Given the description of an element on the screen output the (x, y) to click on. 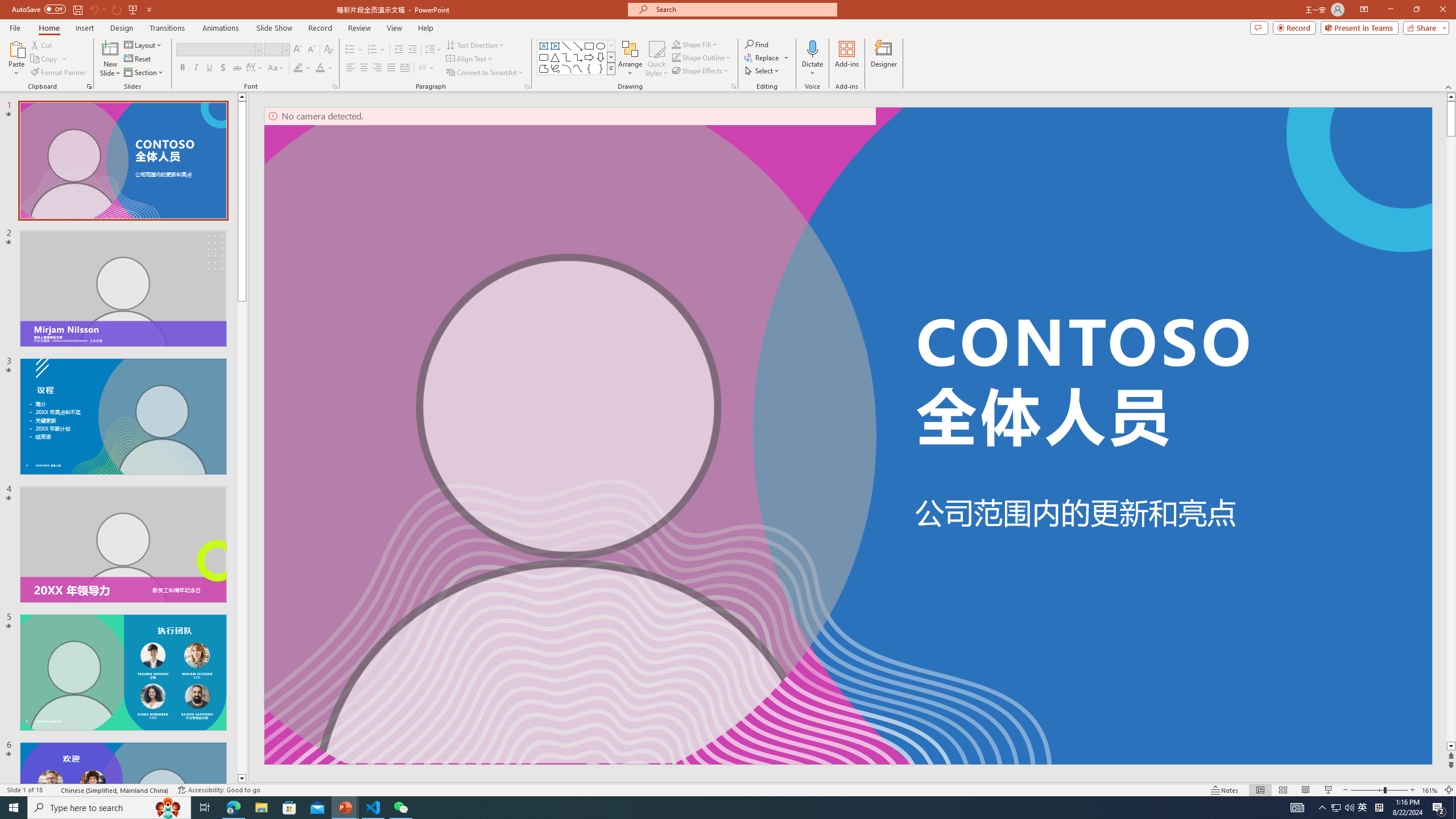
Spell Check  (52, 790)
